Given the description of an element on the screen output the (x, y) to click on. 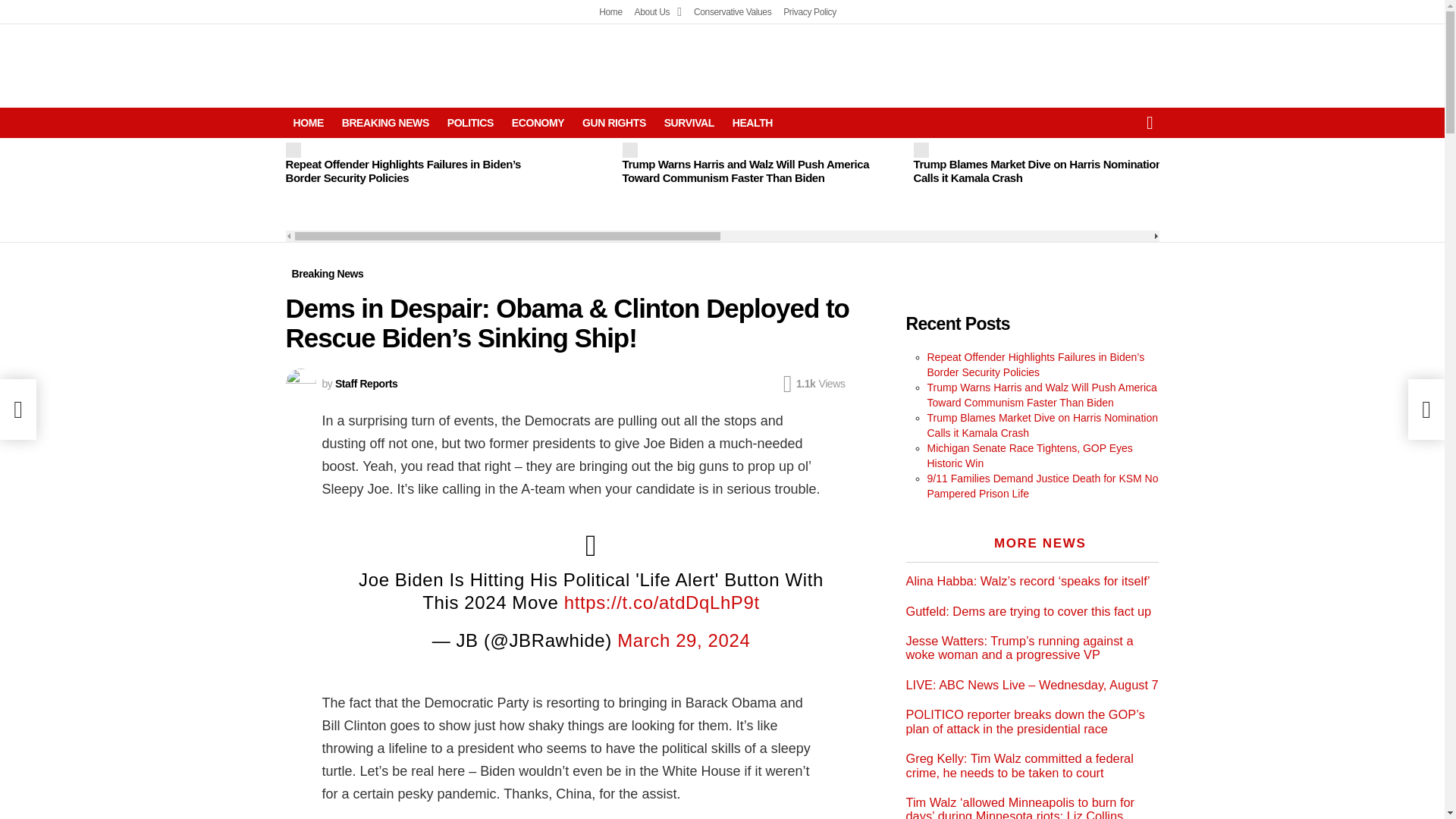
HOME (307, 122)
Home (610, 12)
GUN RIGHTS (614, 122)
BREAKING NEWS (385, 122)
HEALTH (752, 122)
Conservative Values (732, 12)
Posts by Staff Reports (365, 383)
Privacy Policy (809, 12)
ECONOMY (537, 122)
